Given the description of an element on the screen output the (x, y) to click on. 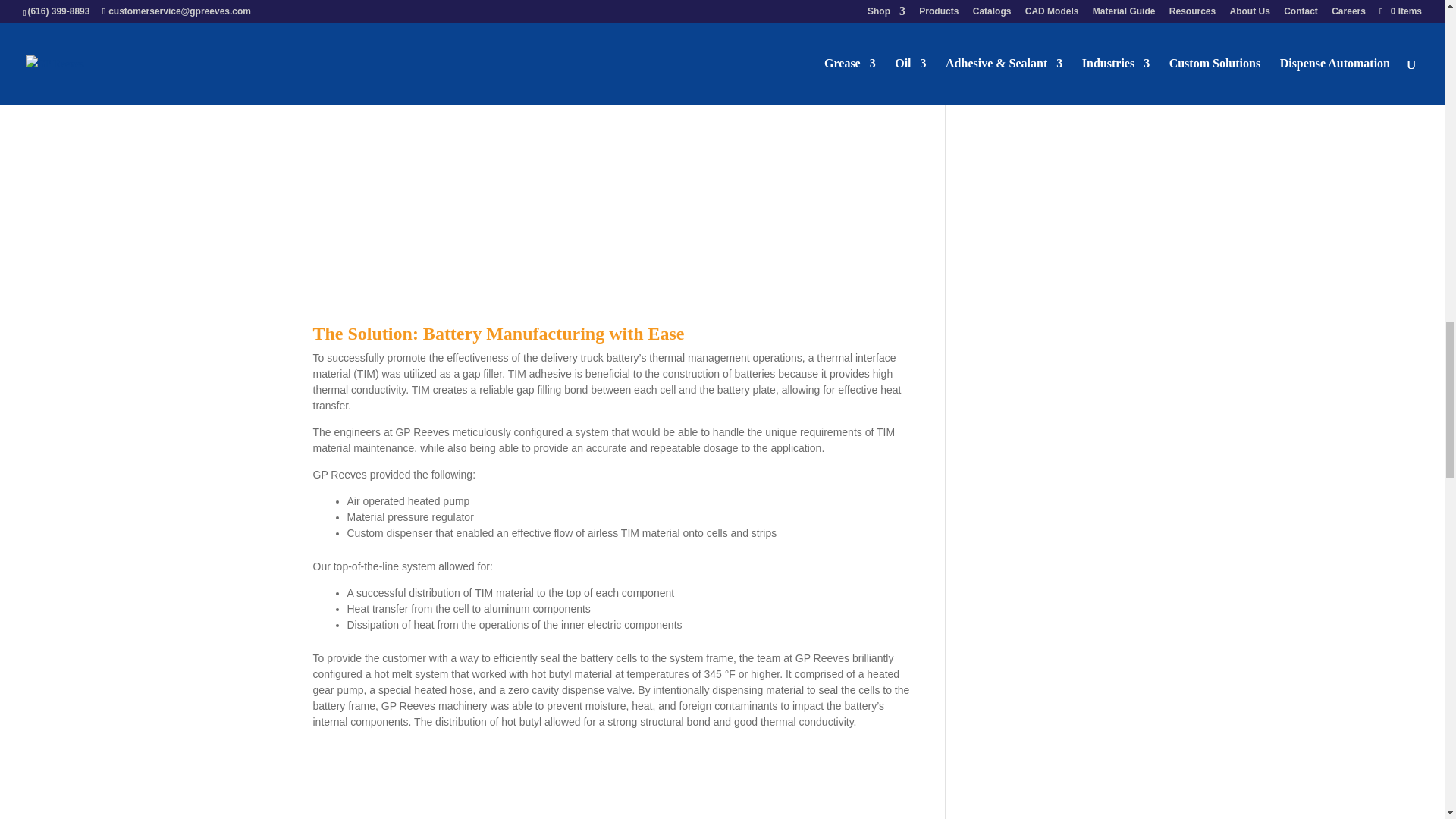
javygo-ZdySMOIicMo-unsplash (616, 782)
